Given the description of an element on the screen output the (x, y) to click on. 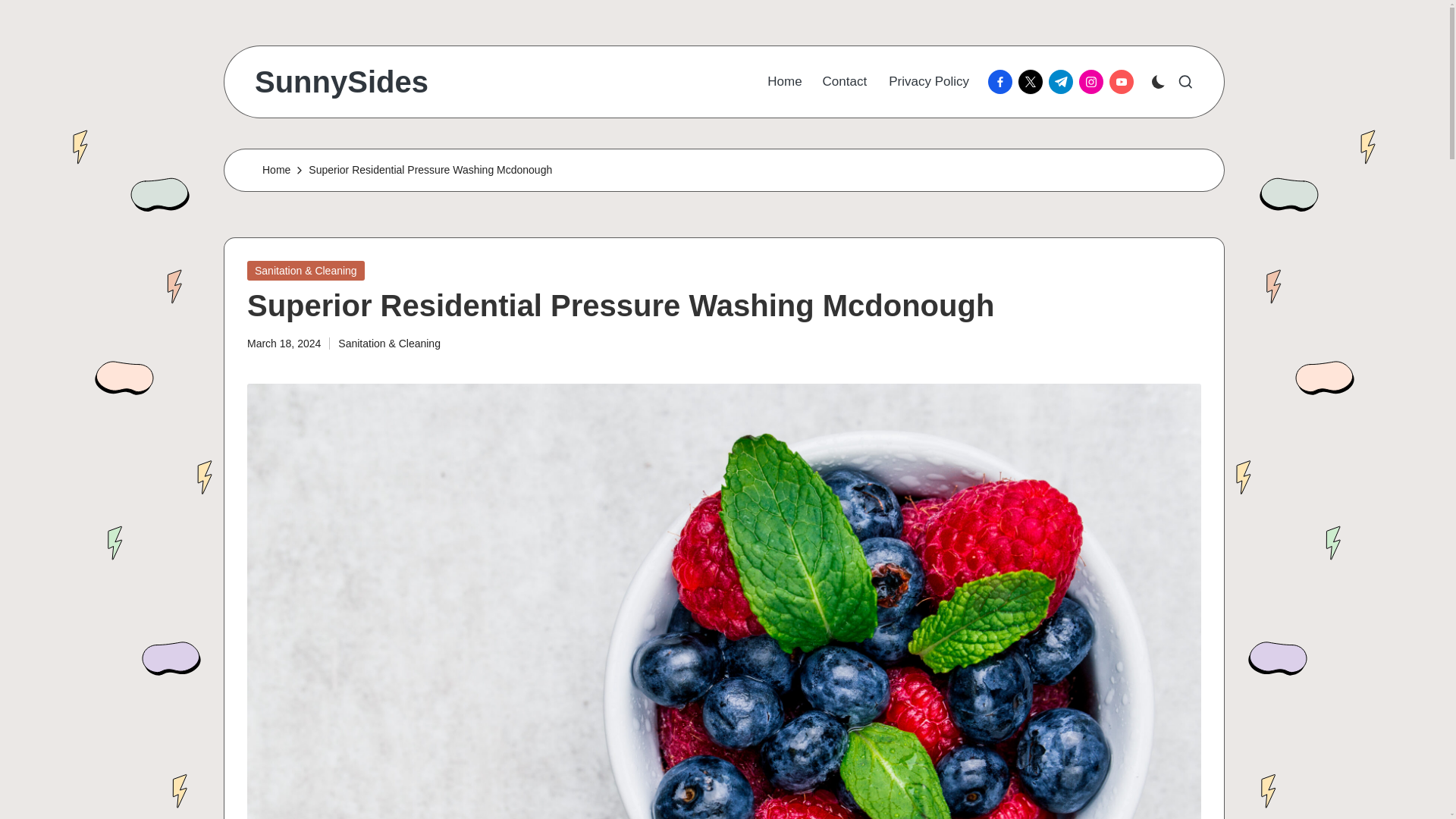
t.me (1063, 81)
facebook.com (1002, 81)
twitter.com (1032, 81)
Contact (844, 81)
instagram.com (1093, 81)
Home (784, 81)
Privacy Policy (928, 81)
SunnySides (341, 81)
Home (275, 169)
youtube.com (1124, 81)
